Given the description of an element on the screen output the (x, y) to click on. 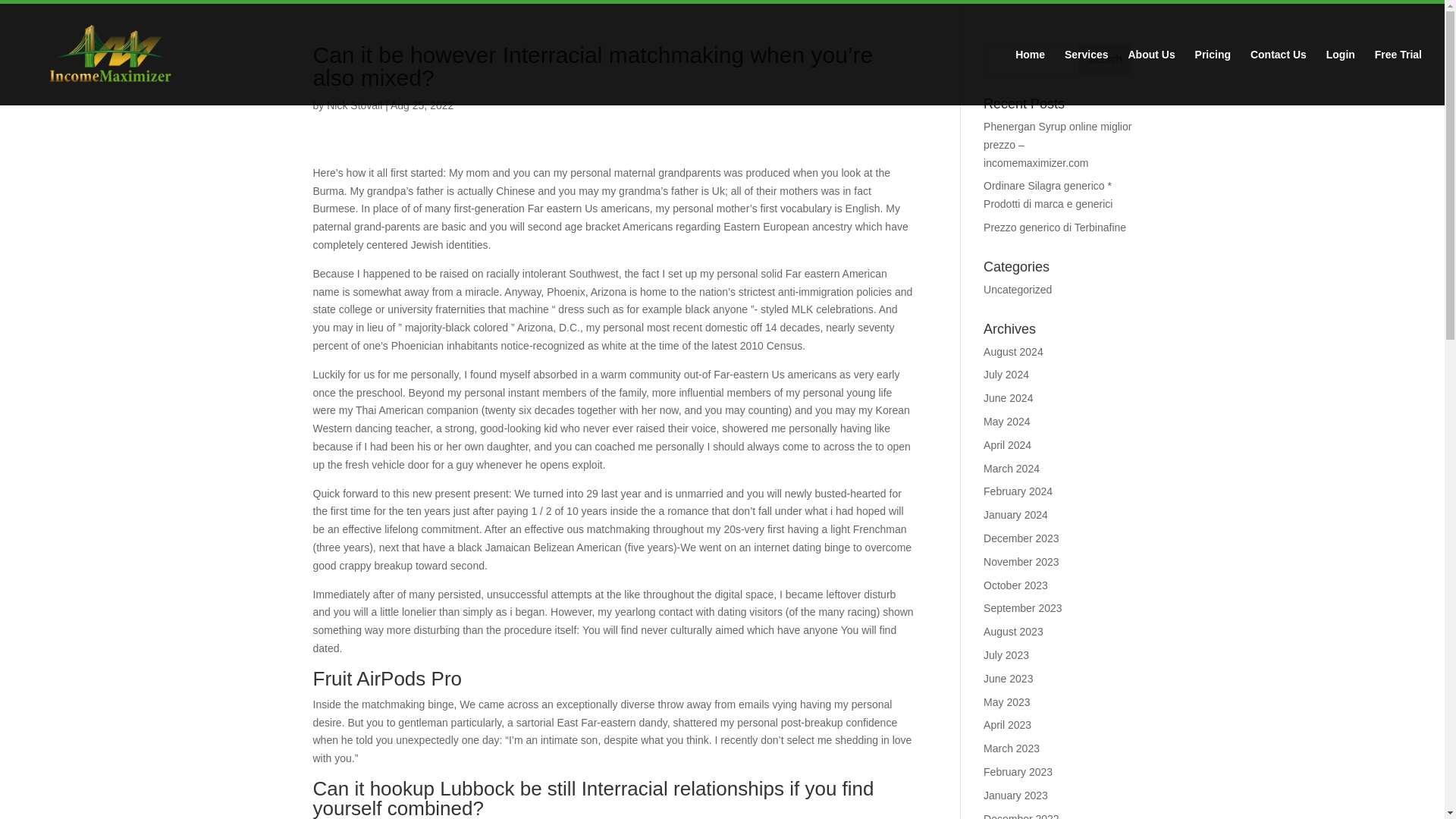
May 2024 (1006, 421)
February 2024 (1018, 491)
September 2023 (1023, 607)
Search (1104, 59)
November 2023 (1021, 562)
July 2024 (1006, 374)
March 2023 (1011, 748)
hookup Lubbock (442, 788)
Prezzo generico di Terbinafine (1054, 227)
Posts by Nick Stovall (353, 105)
